Given the description of an element on the screen output the (x, y) to click on. 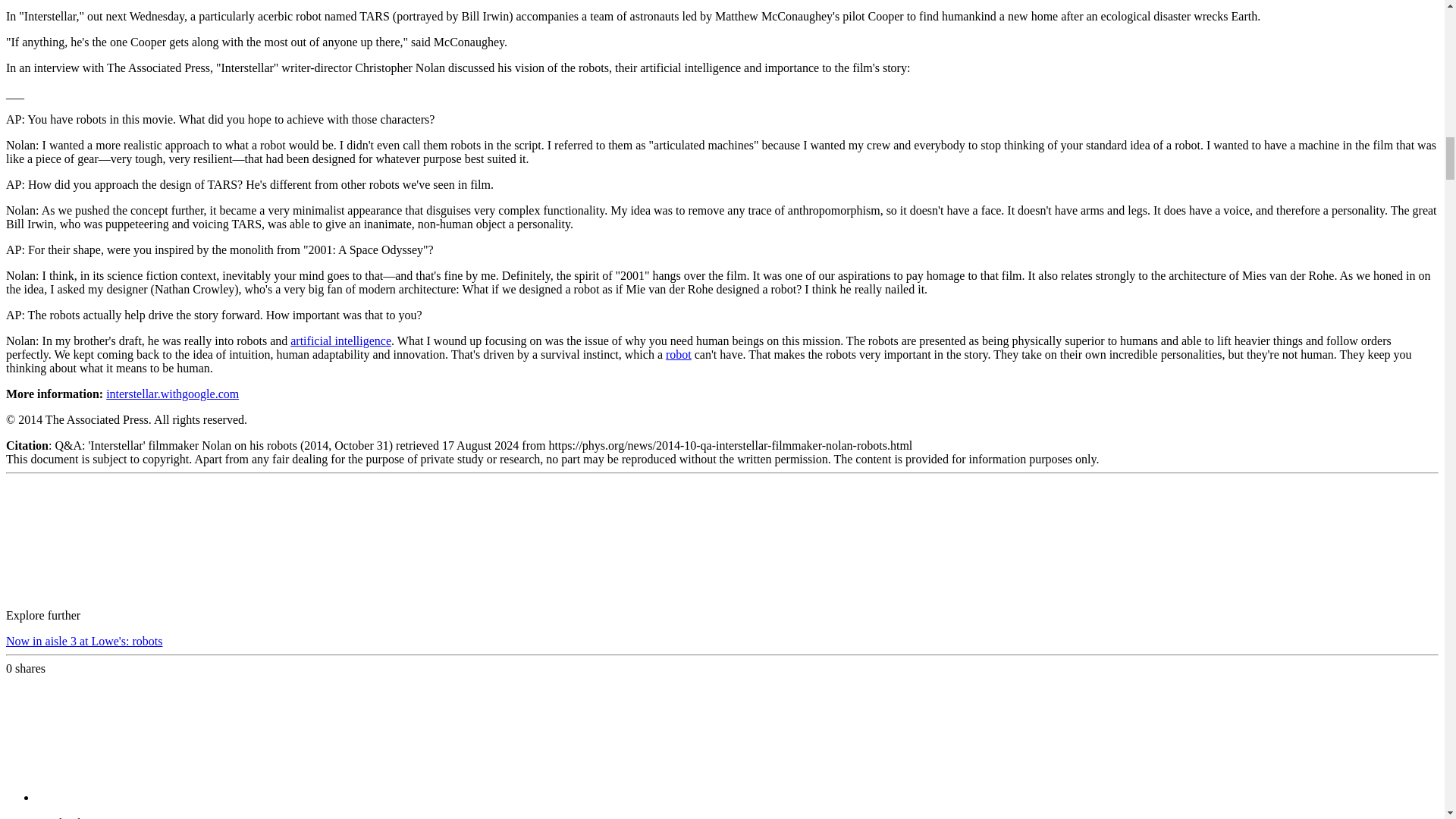
interstellar.withgoogle.com (172, 393)
0 shares (25, 667)
artificial intelligence (340, 340)
Now in aisle 3 at Lowe's: robots (83, 640)
robot (678, 354)
